Given the description of an element on the screen output the (x, y) to click on. 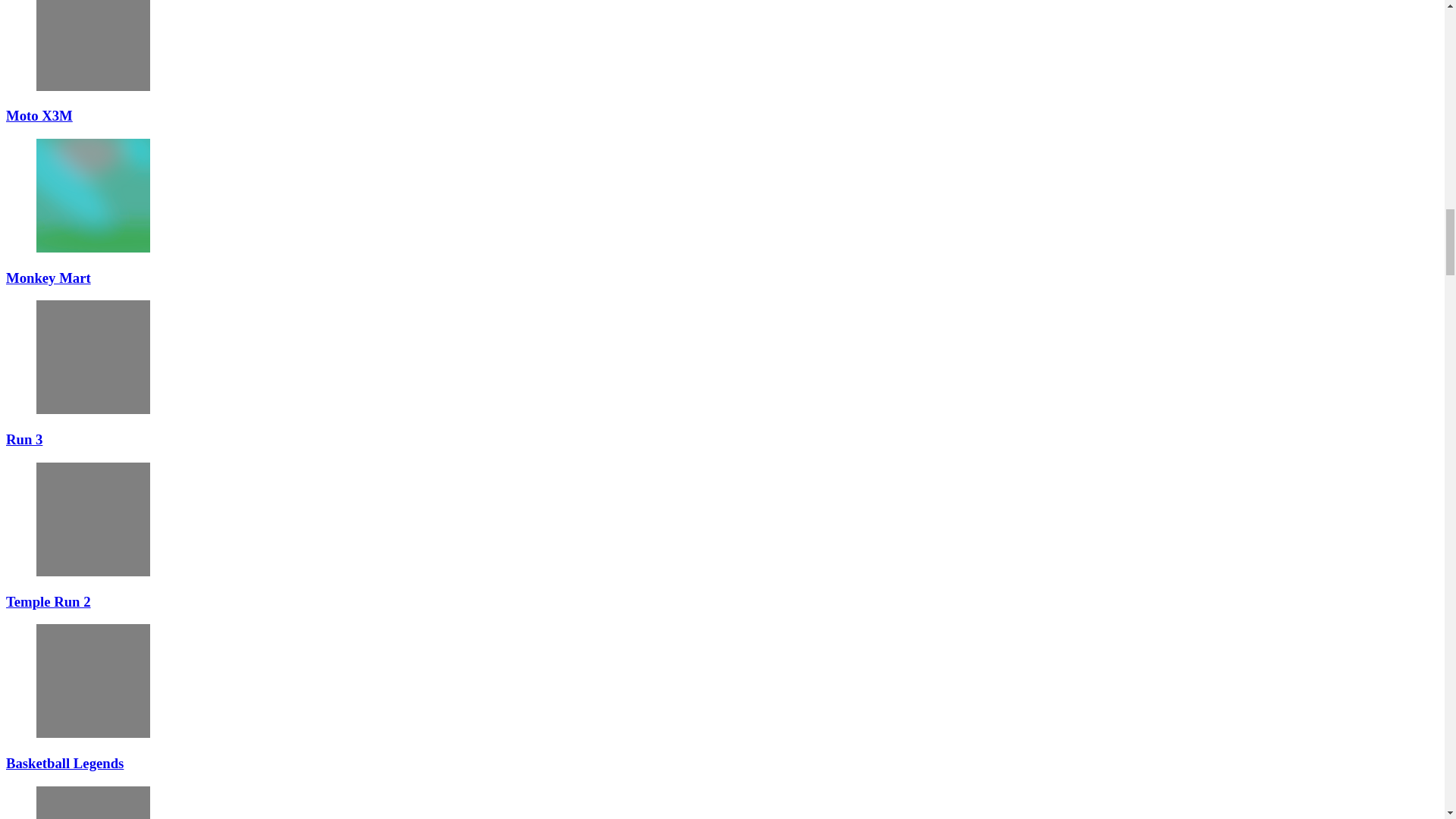
Slope Tunnel (92, 802)
Moto X3M (38, 115)
Monkey Mart (47, 277)
Basketball Legends (92, 680)
Moto X3M (92, 45)
Monkey Mart (92, 195)
Temple Run 2 (92, 519)
Run 3 (92, 357)
